Given the description of an element on the screen output the (x, y) to click on. 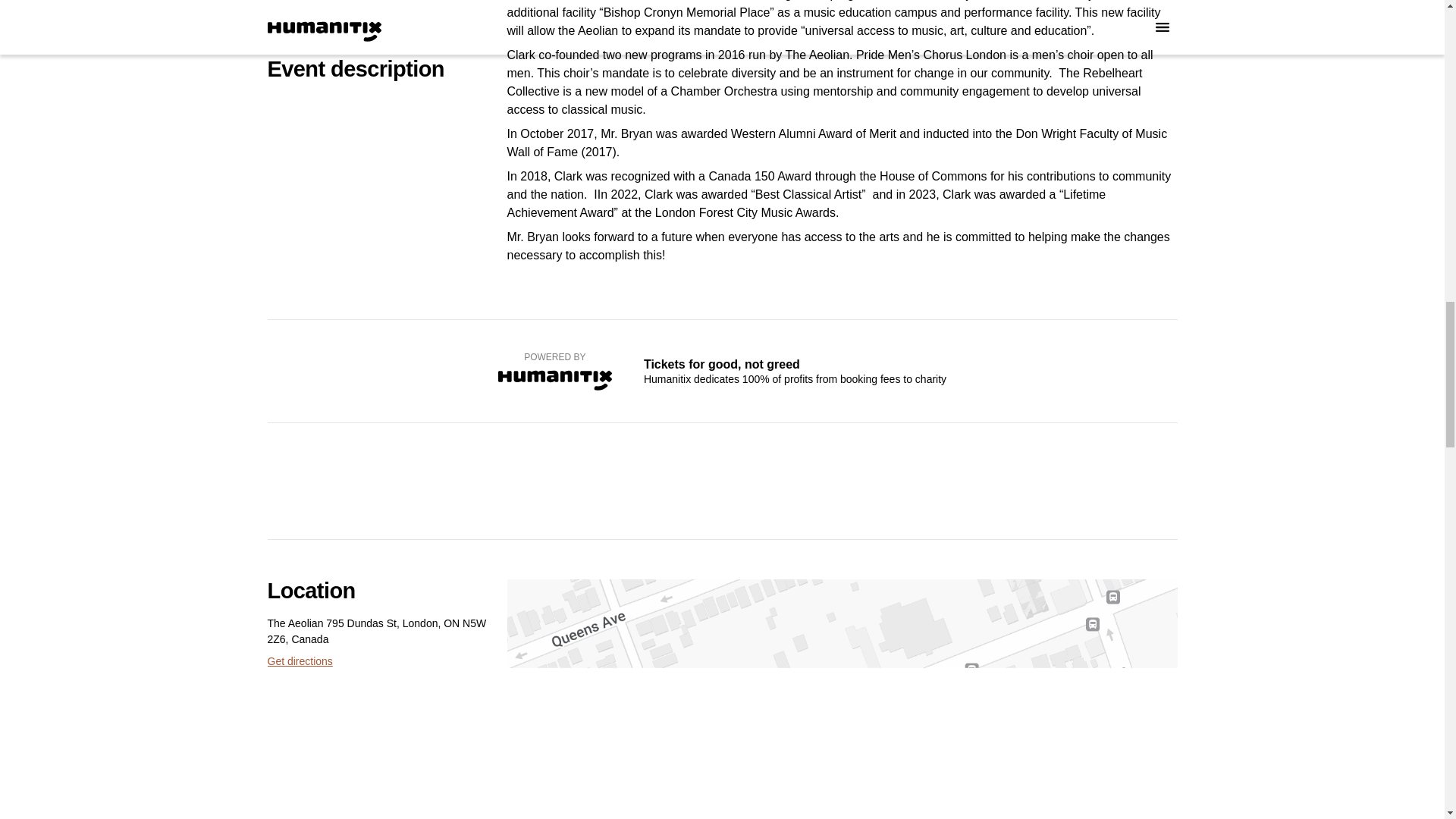
Get directions (298, 660)
